Given the description of an element on the screen output the (x, y) to click on. 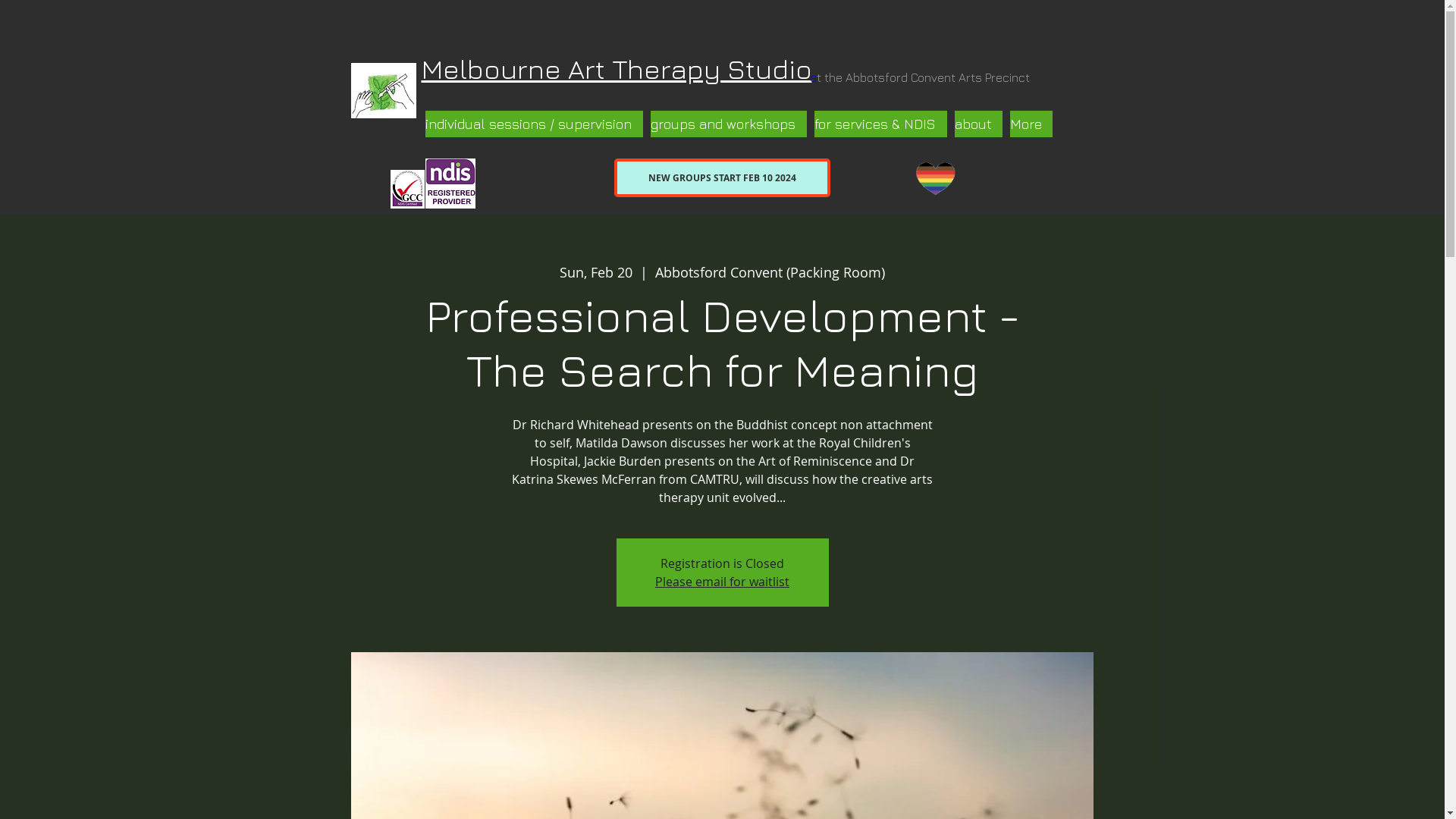
NEW GROUPS START FEB 10 2024 Element type: text (722, 177)
Please email for waitlist Element type: text (722, 581)
a Element type: text (812, 77)
Melbourne Art Therapy Studio Element type: text (616, 75)
individual sessions / supervision Element type: text (533, 123)
for services & NDIS Element type: text (880, 123)
about Element type: text (977, 123)
groups and workshops Element type: text (728, 123)
